Given the description of an element on the screen output the (x, y) to click on. 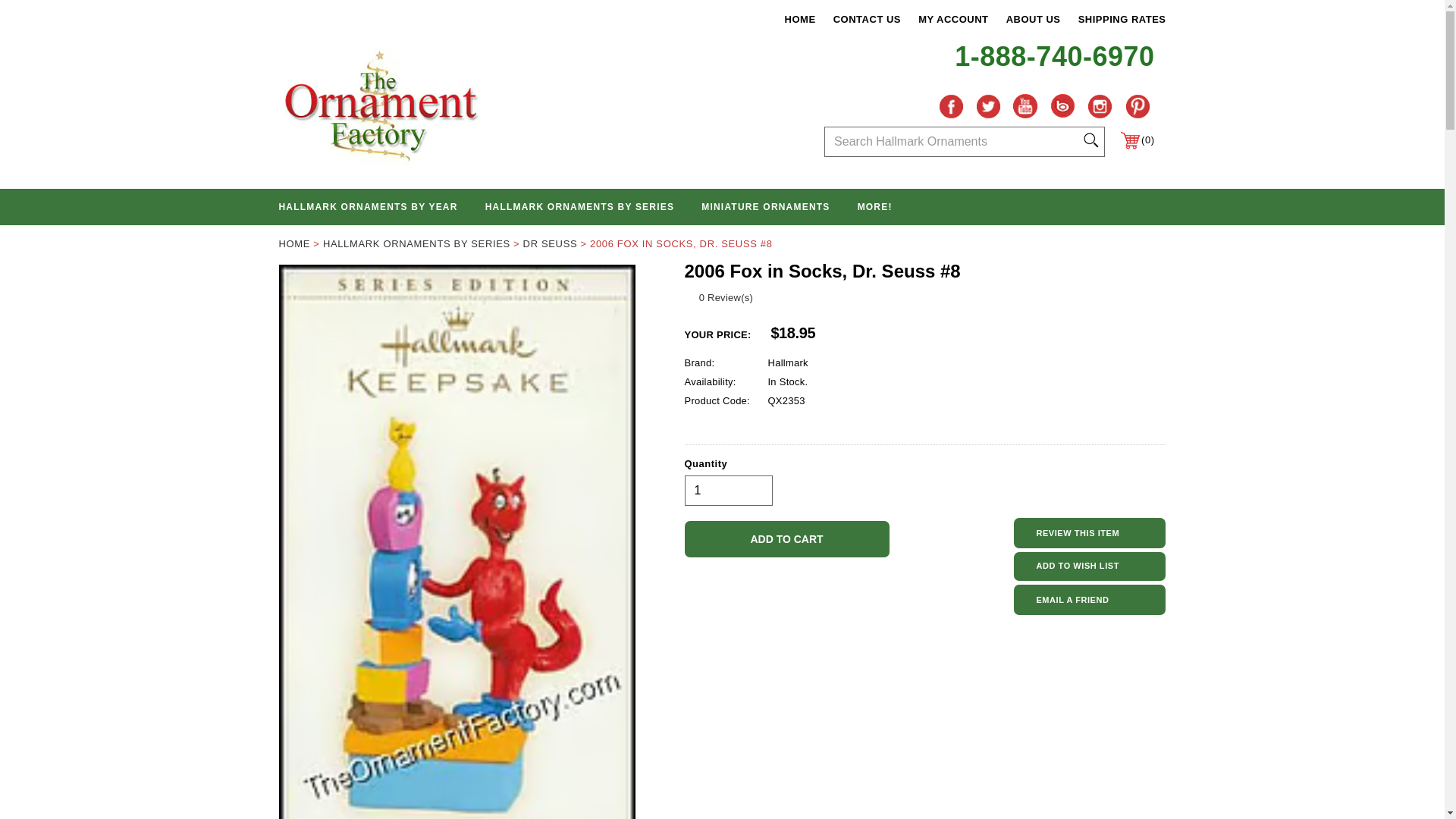
MY ACCOUNT (953, 19)
SHIPPING RATES (1122, 19)
1 (727, 490)
MY ACCOUNT (953, 19)
Like Us on Facebook (950, 105)
CONTACT US (866, 19)
